Given the description of an element on the screen output the (x, y) to click on. 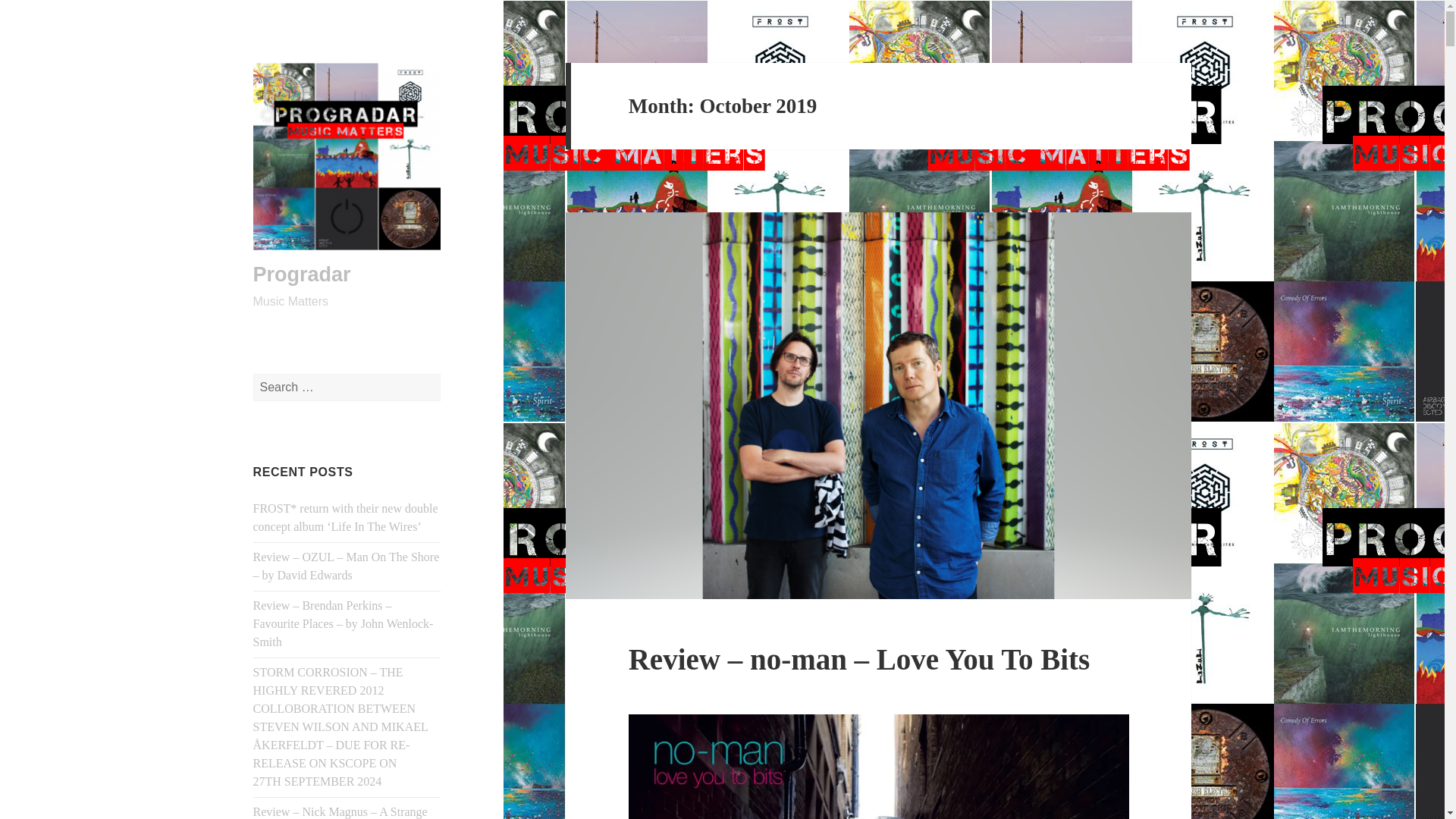
Progradar (301, 273)
